Given the description of an element on the screen output the (x, y) to click on. 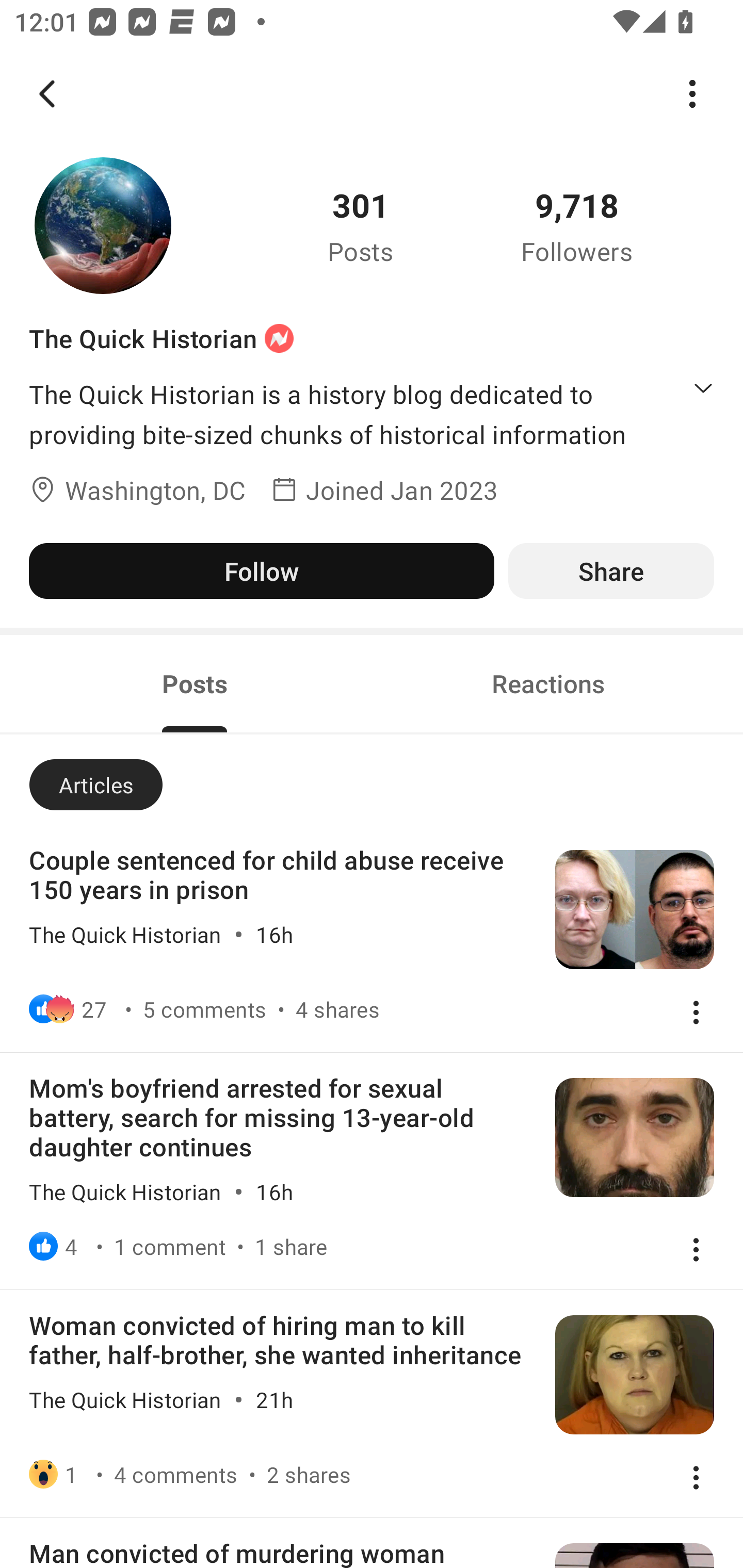
Follow (261, 570)
Share (611, 570)
Reactions (548, 683)
